Given the description of an element on the screen output the (x, y) to click on. 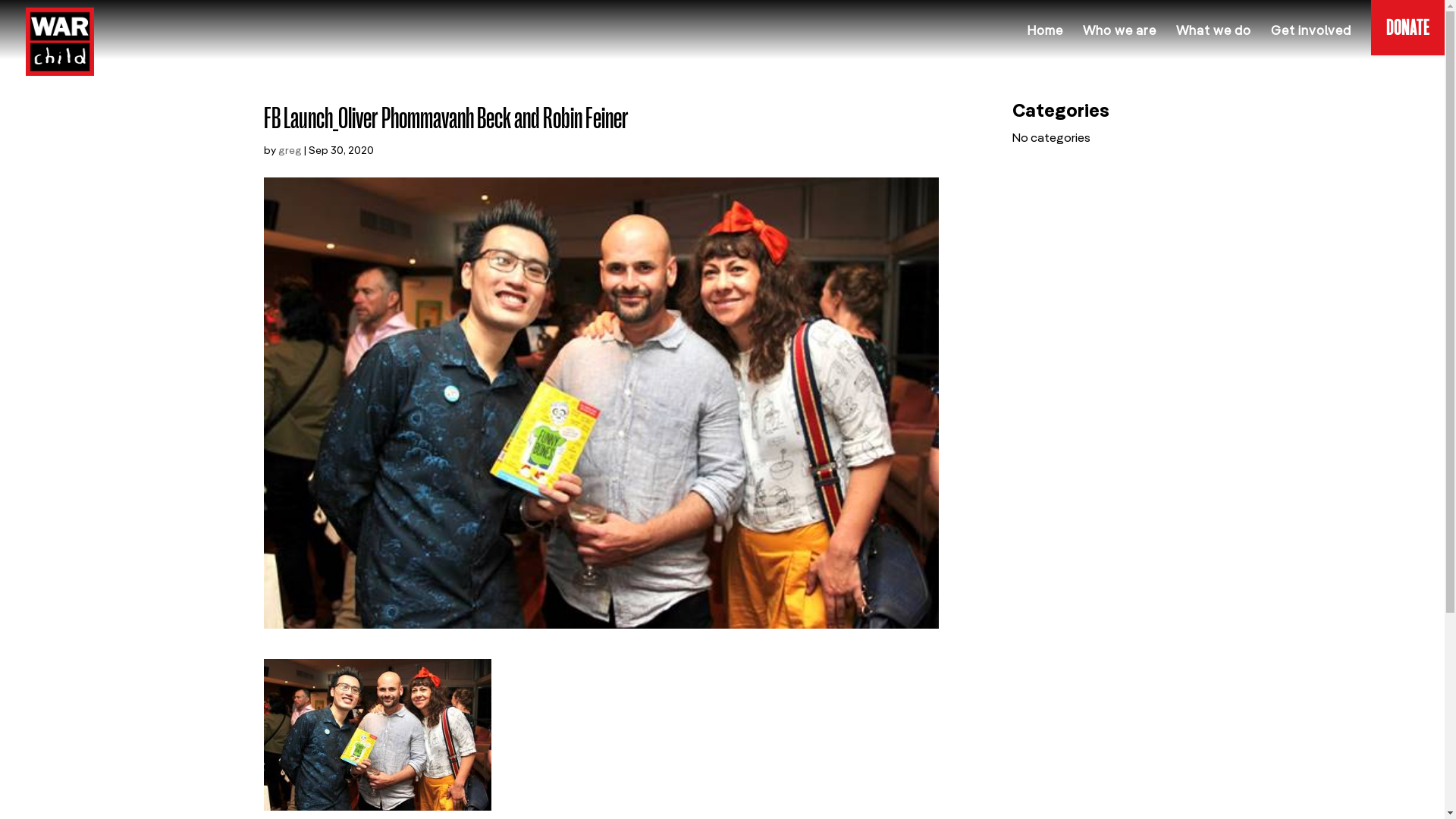
DONATE Element type: text (1407, 38)
Get involved Element type: text (1310, 42)
greg Element type: text (289, 150)
Home Element type: text (1045, 42)
Who we are Element type: text (1119, 42)
What we do Element type: text (1213, 42)
